Given the description of an element on the screen output the (x, y) to click on. 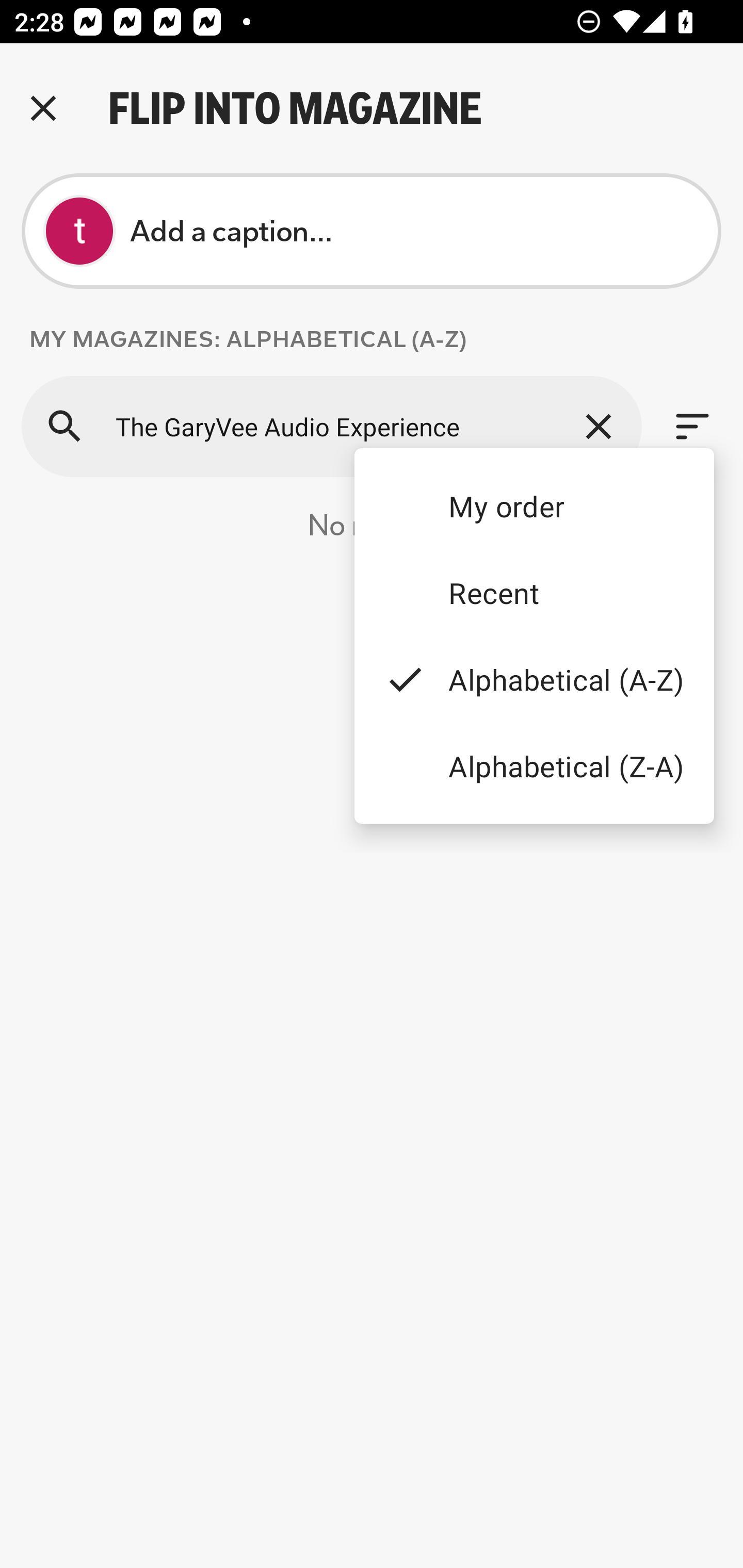
My order (534, 505)
Recent (534, 592)
Alphabetical (A-Z) (534, 679)
Alphabetical (Z-A) (534, 765)
